Given the description of an element on the screen output the (x, y) to click on. 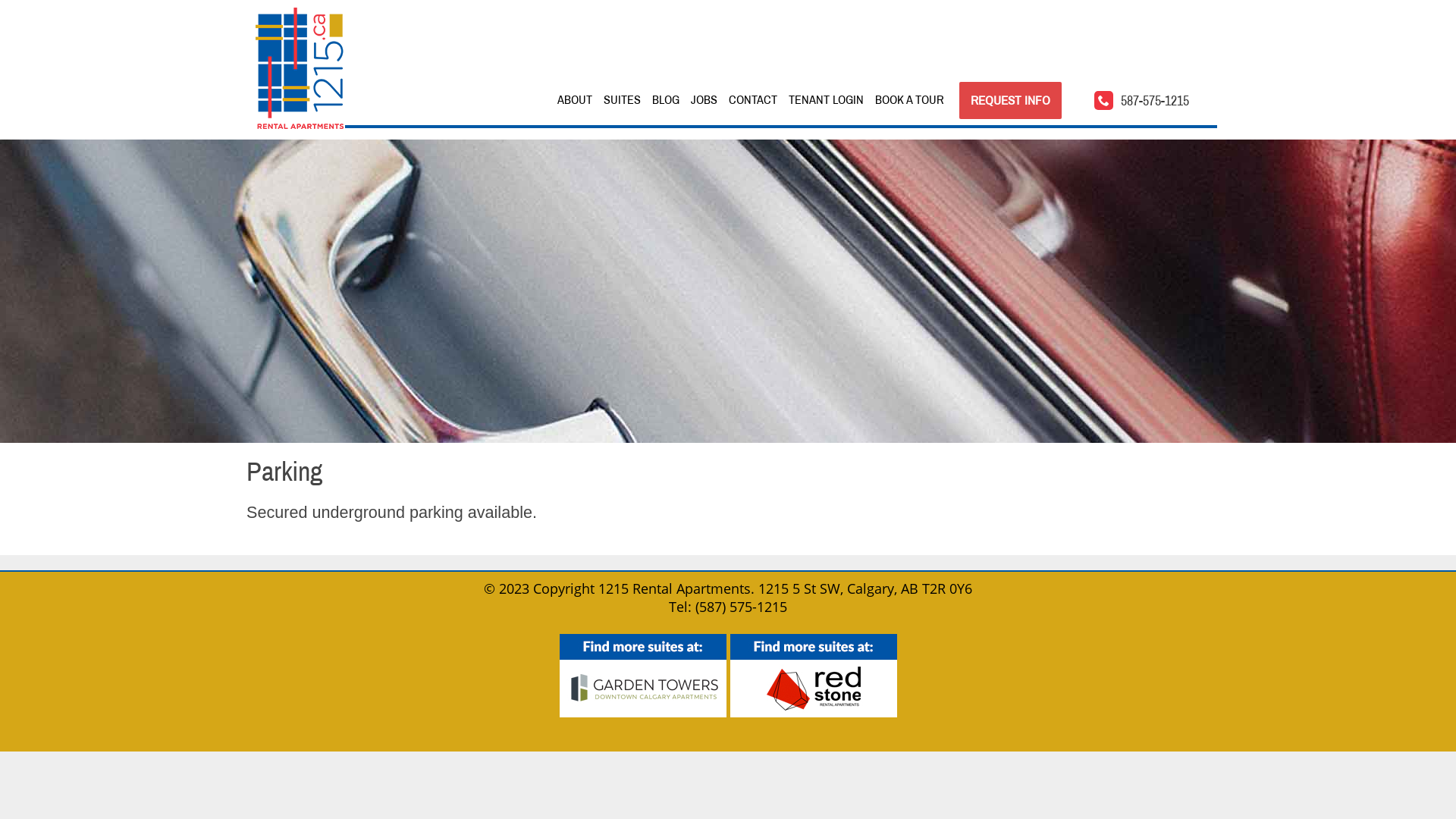
ABOUT Element type: text (574, 99)
CONTACT Element type: text (752, 99)
BLOG Element type: text (665, 99)
SUITES Element type: text (621, 99)
TENANT LOGIN Element type: text (825, 99)
587-575-1215 Element type: text (1141, 97)
JOBS Element type: text (703, 99)
REQUEST INFO Element type: text (1010, 100)
BOOK A TOUR Element type: text (909, 99)
